Given the description of an element on the screen output the (x, y) to click on. 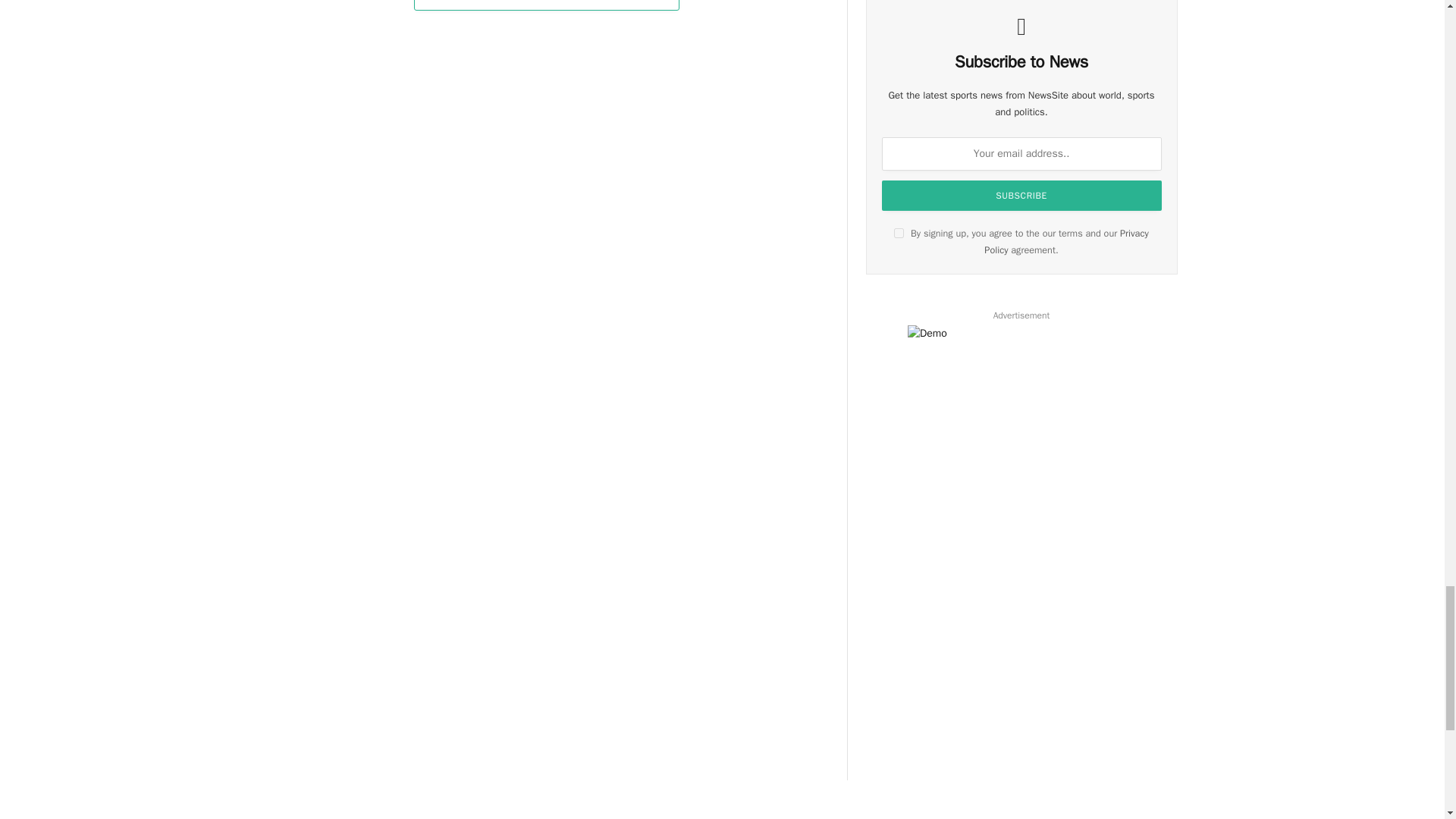
on (898, 233)
Subscribe (1021, 195)
